Given the description of an element on the screen output the (x, y) to click on. 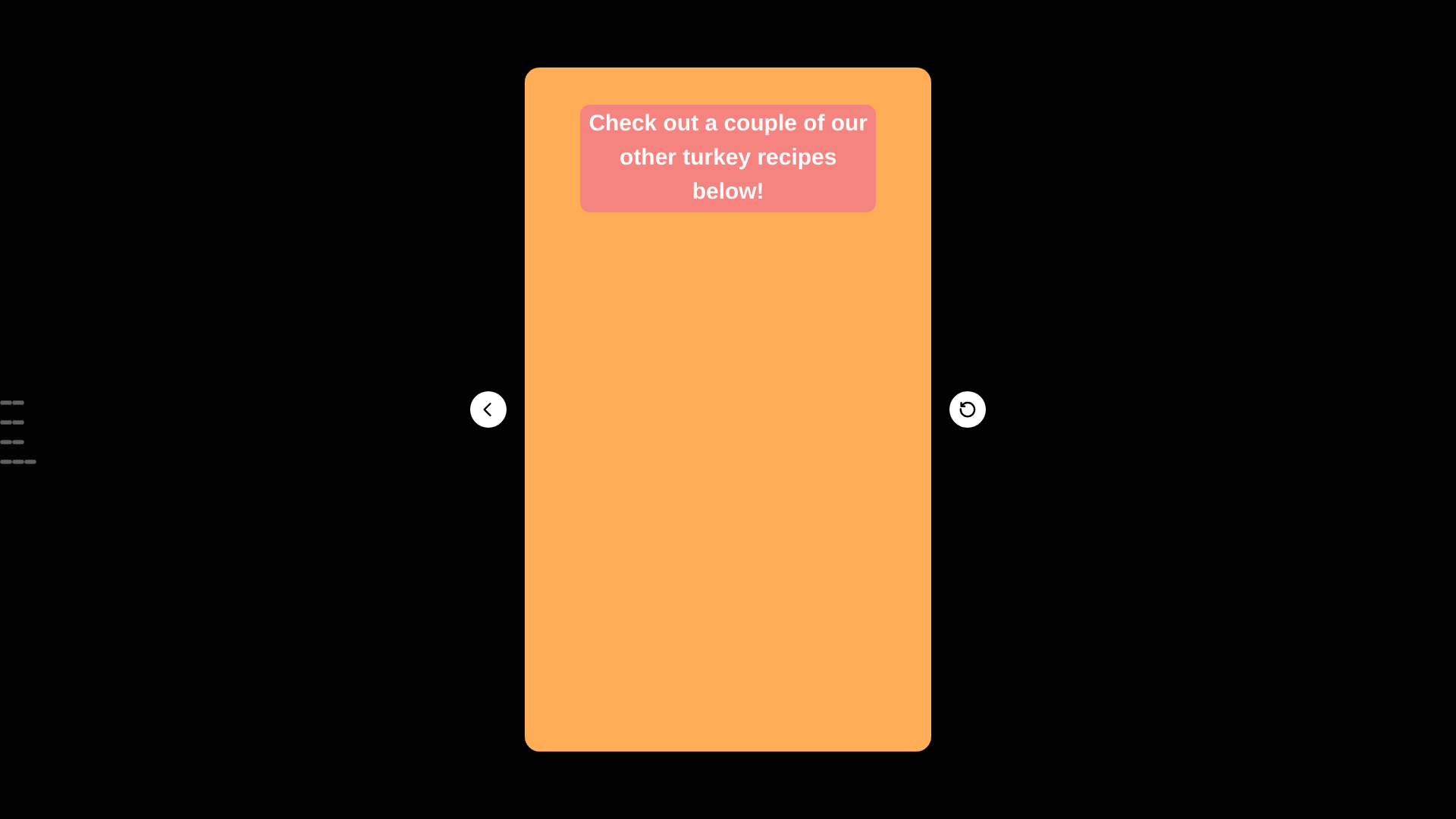
Check out a couple of our other turkey recipes below! (727, 158)
EASY TURKEY TETRAZZINI (727, 250)
